Given the description of an element on the screen output the (x, y) to click on. 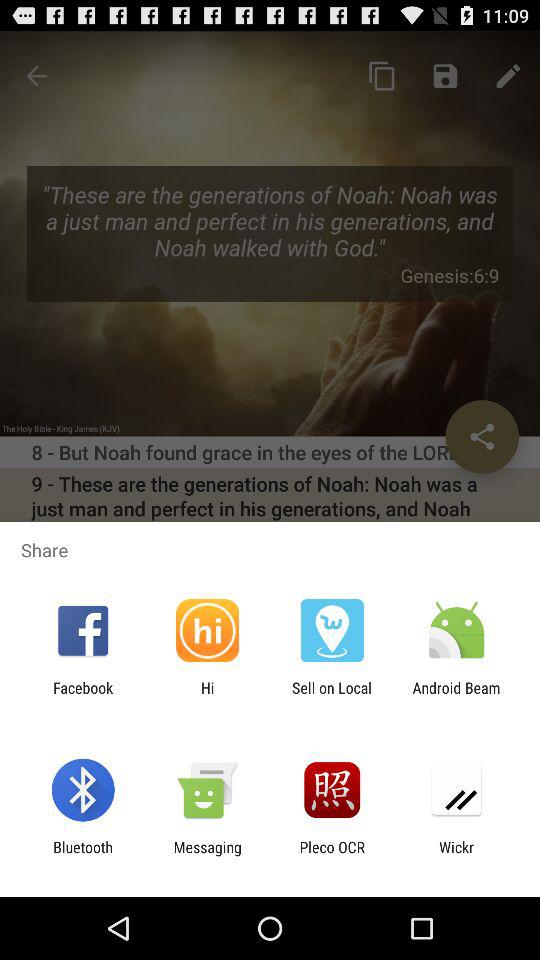
tap the item next to sell on local app (207, 696)
